Given the description of an element on the screen output the (x, y) to click on. 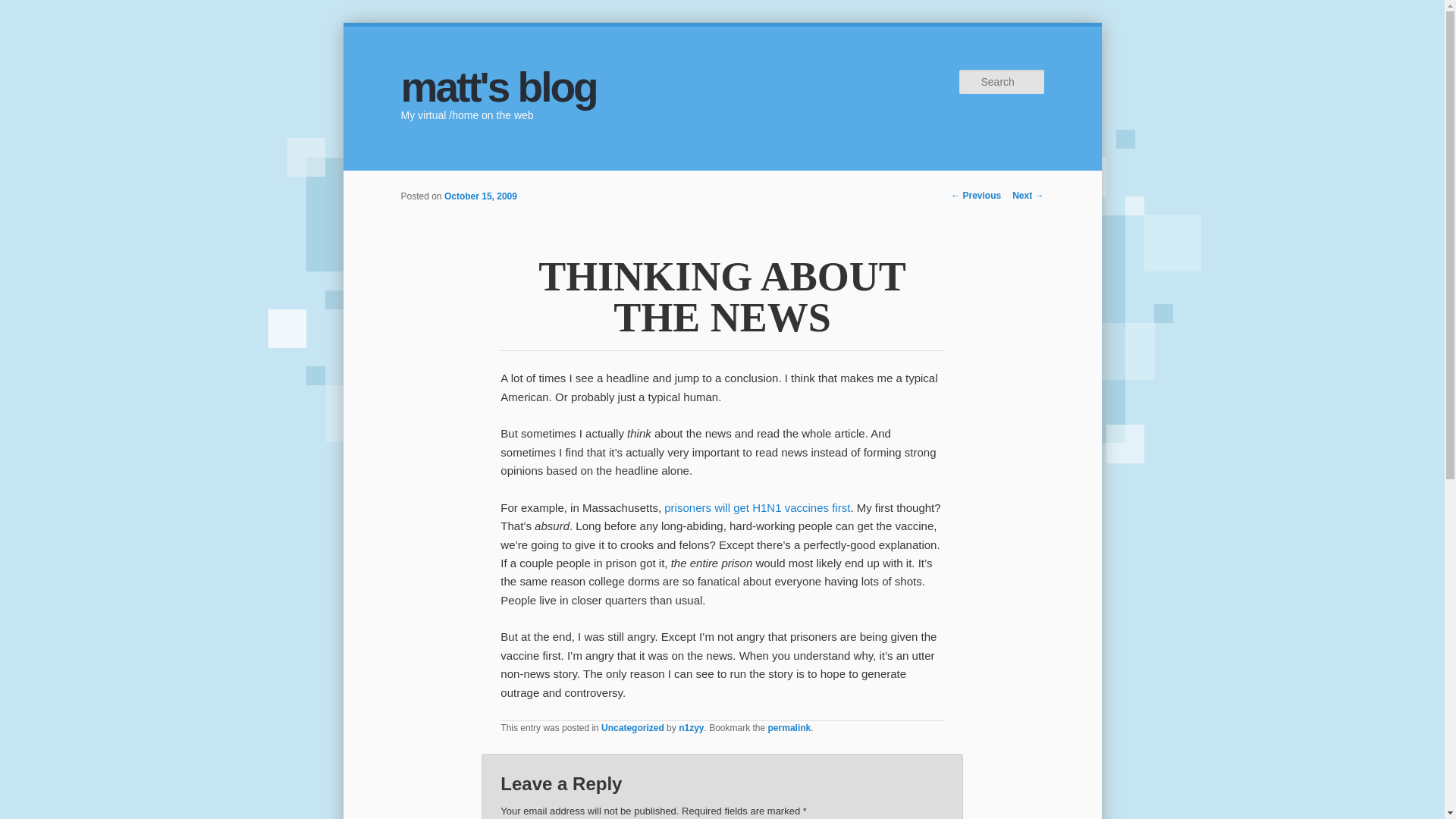
October 15, 2009 (480, 195)
Skip to primary content (472, 181)
matt's blog (497, 86)
Matt's Blog (497, 86)
permalink (789, 727)
Search (24, 11)
Skip to primary content (472, 181)
prisoners will get H1N1 vaccines first (756, 507)
Permalink to Thinking about the News (789, 727)
8:18 pm (480, 195)
